Given the description of an element on the screen output the (x, y) to click on. 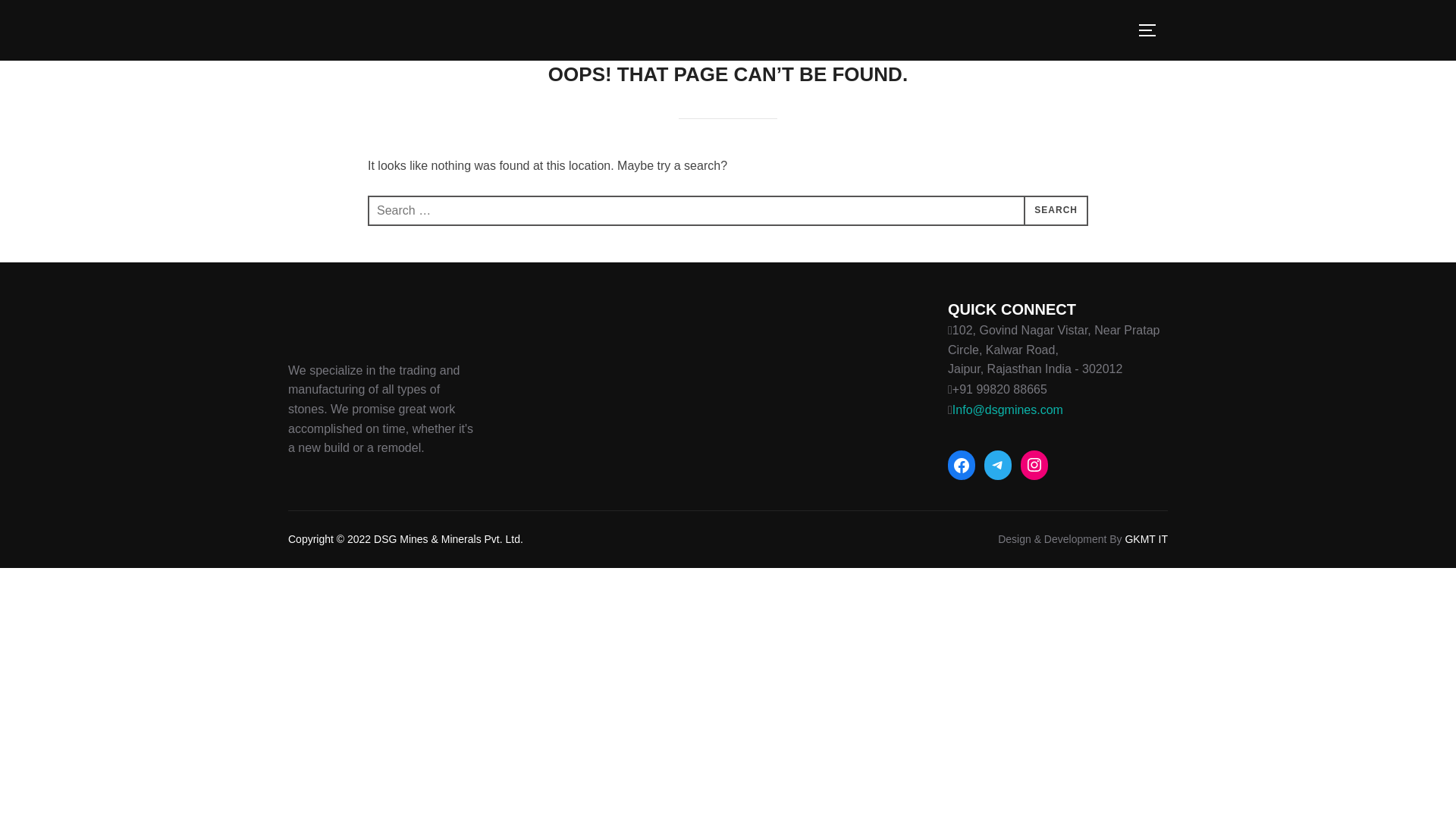
GKMT IT (1145, 539)
Telegram (997, 464)
SEARCH (1055, 210)
Facebook (961, 465)
Instagram (1034, 464)
send mail (1007, 409)
